Given the description of an element on the screen output the (x, y) to click on. 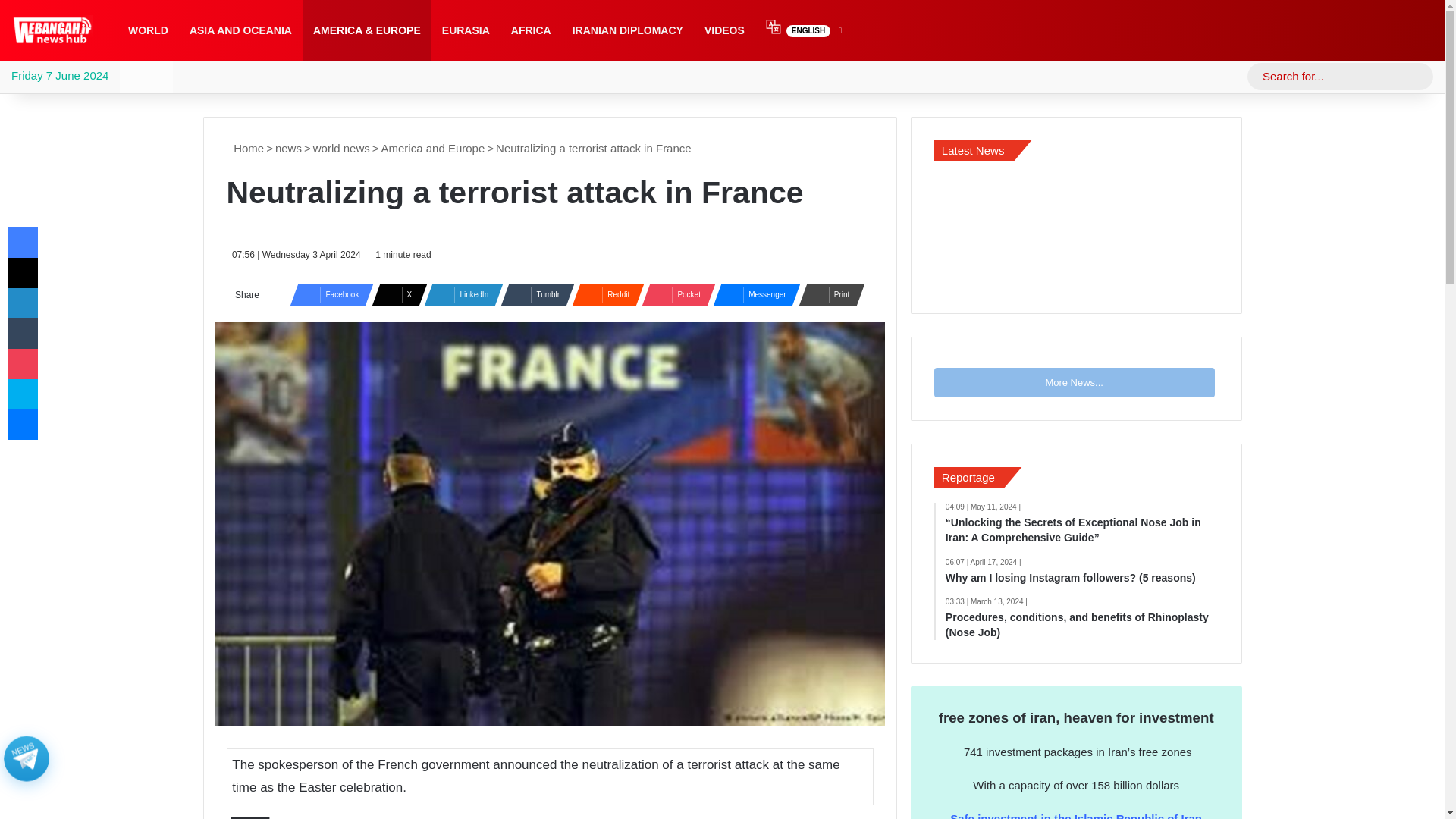
Pocket (674, 294)
VIDEOS (724, 30)
Reddit (603, 294)
Search for... (1339, 76)
Tumblr (533, 294)
Facebook (327, 294)
WORLD (148, 30)
Messenger (752, 294)
X (395, 294)
AFRICA (531, 30)
